Given the description of an element on the screen output the (x, y) to click on. 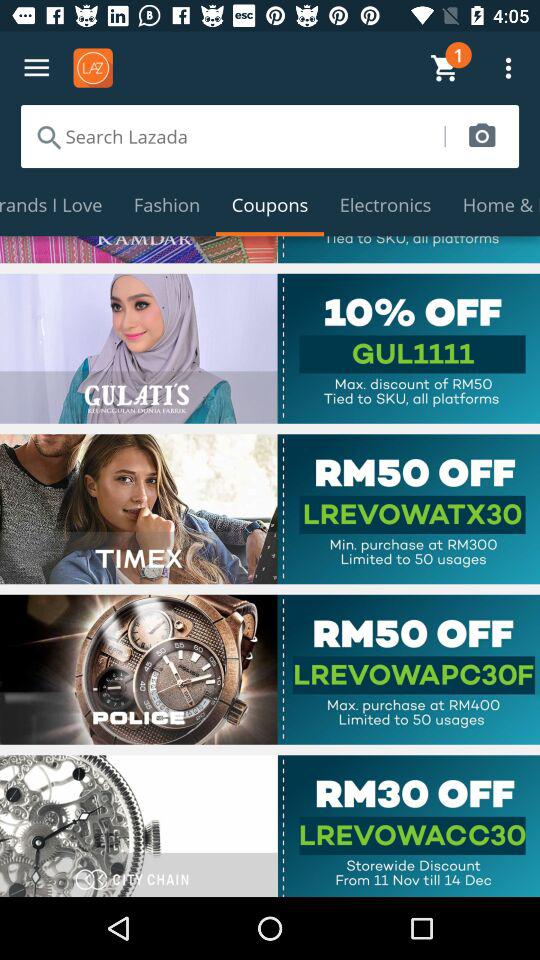
coupon (270, 509)
